Given the description of an element on the screen output the (x, y) to click on. 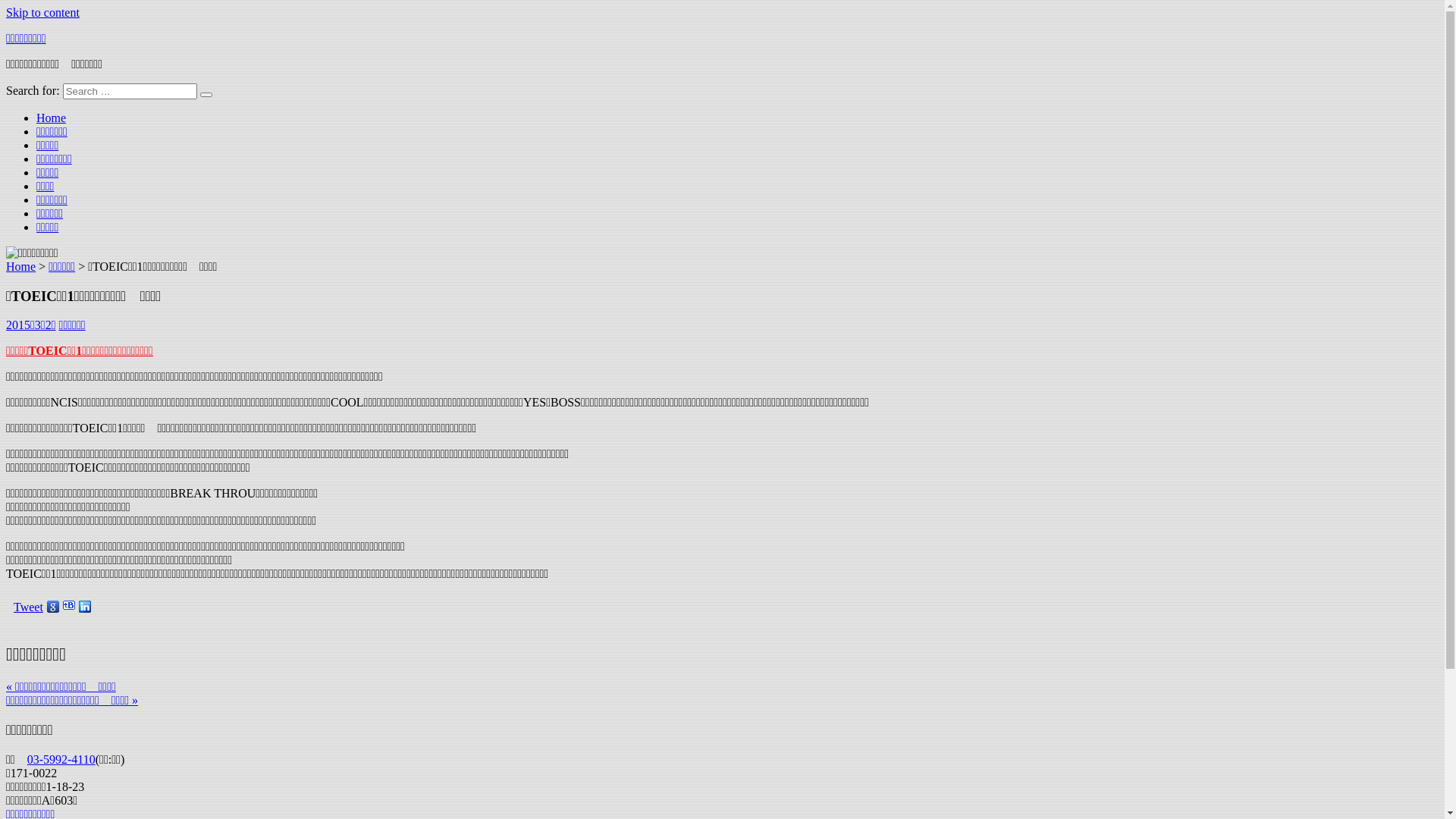
Home Element type: text (50, 117)
Tweet Element type: text (28, 606)
Skip to content Element type: text (42, 12)
03-5992-4110 Element type: text (61, 759)
Home Element type: text (20, 266)
